Given the description of an element on the screen output the (x, y) to click on. 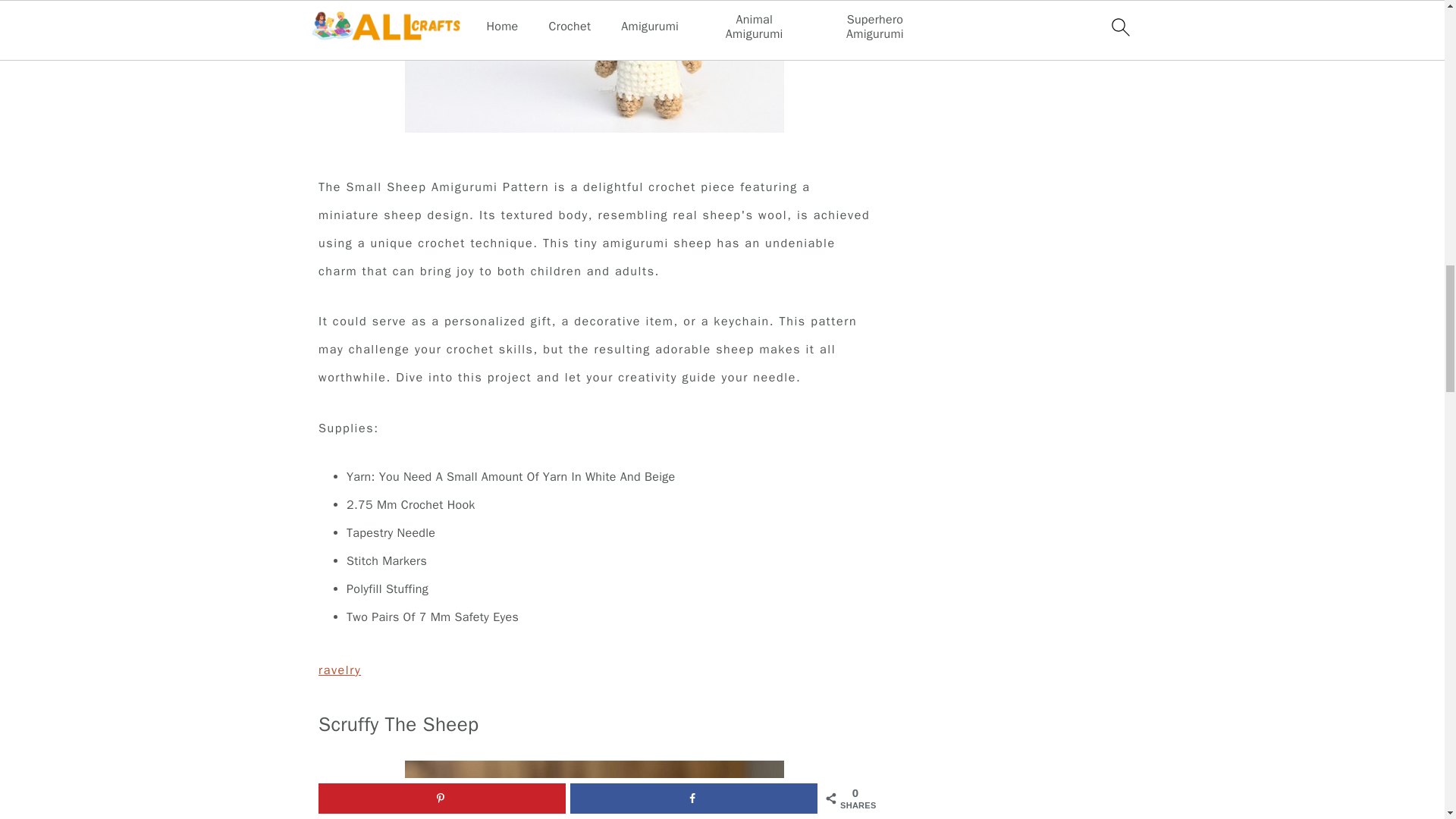
ravelry (339, 670)
